Given the description of an element on the screen output the (x, y) to click on. 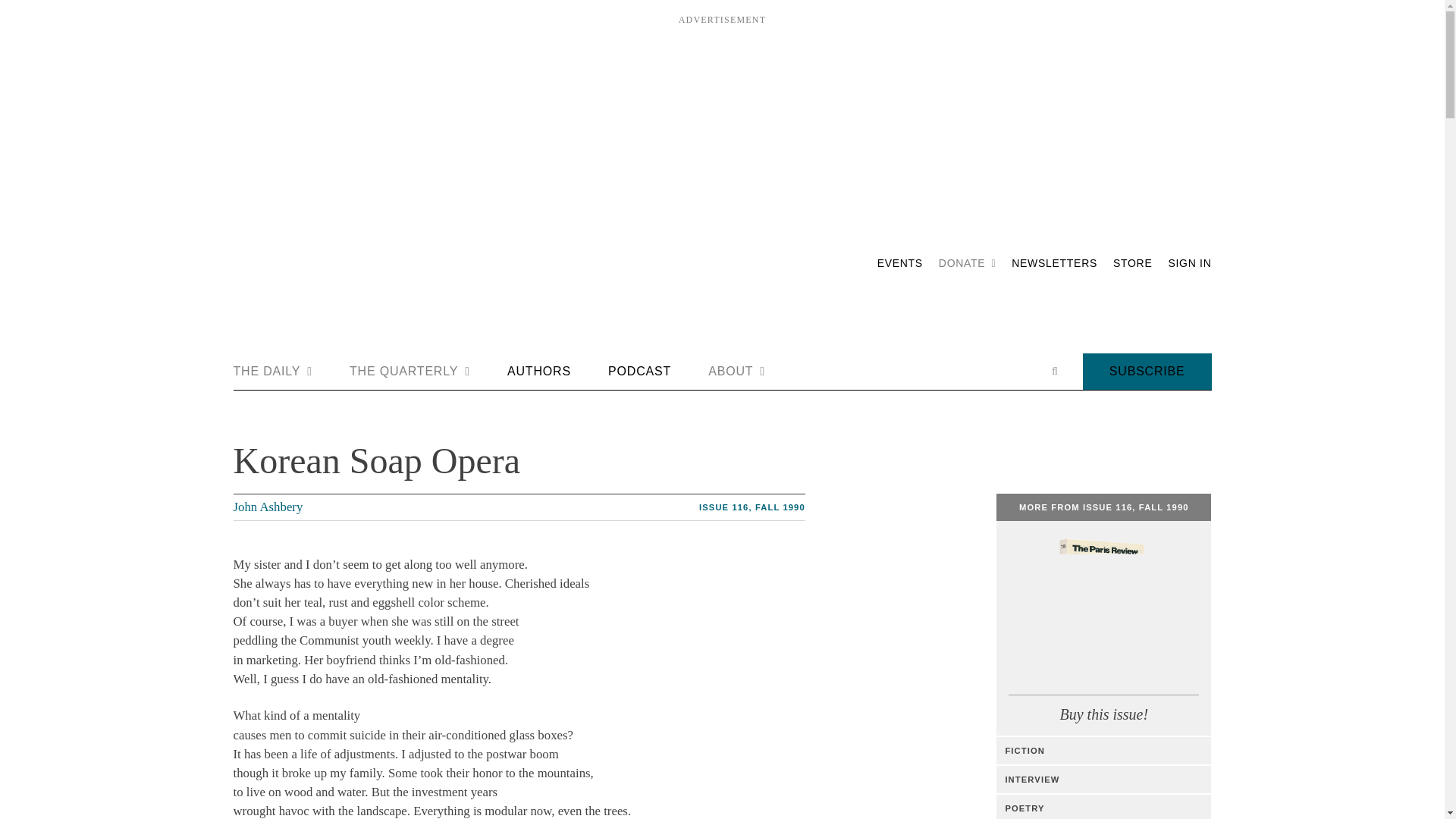
THE QUARTERLY (409, 371)
Open search (1054, 371)
THE DAILY (272, 371)
